Given the description of an element on the screen output the (x, y) to click on. 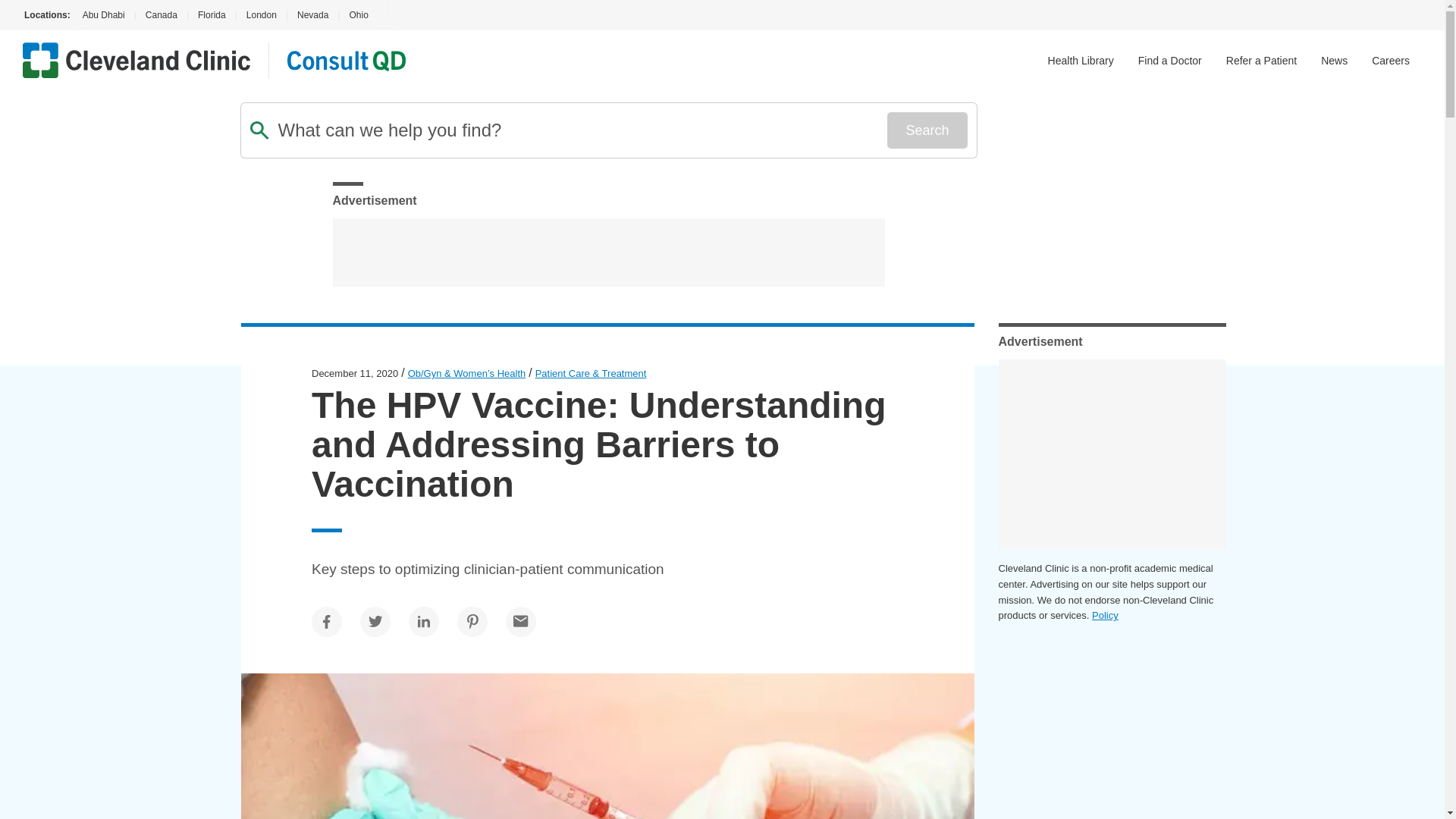
Health Library (1080, 60)
News (1334, 60)
Abu Dhabi (101, 15)
Florida (211, 15)
Find a Doctor (1170, 60)
London (261, 15)
Ohio (358, 15)
Refer a Patient (1261, 60)
Careers (1390, 60)
Nevada (312, 15)
